Given the description of an element on the screen output the (x, y) to click on. 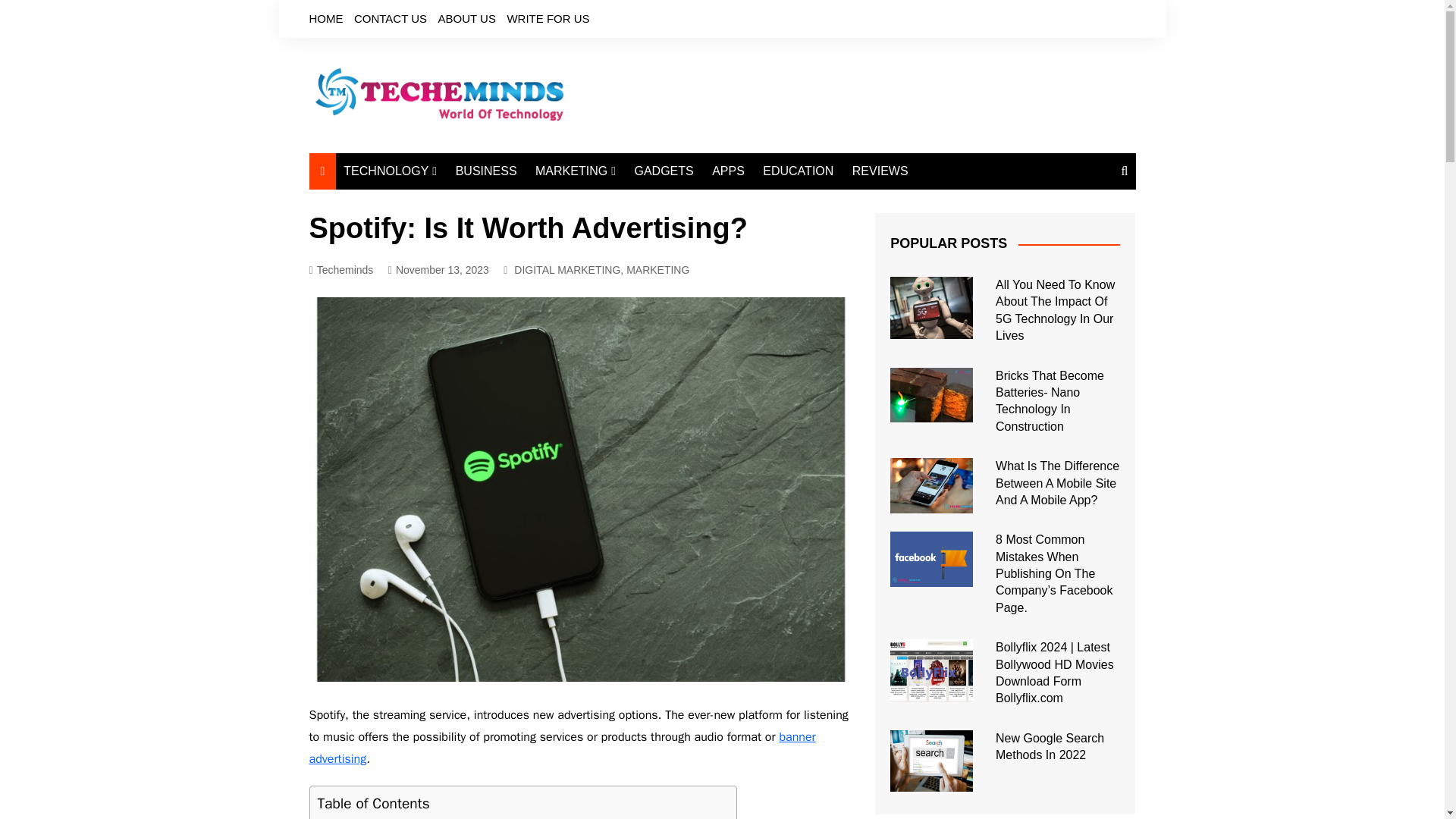
EDUCATION (798, 171)
DIGITAL MARKETING (610, 201)
REVIEWS (879, 171)
WRITE FOR US (547, 18)
November 13, 2023 (438, 270)
BLOCKCHAIN (419, 314)
MARKETING (575, 171)
BUSINESS (486, 171)
TECHNOLOGY (390, 171)
HOME (325, 18)
